Given the description of an element on the screen output the (x, y) to click on. 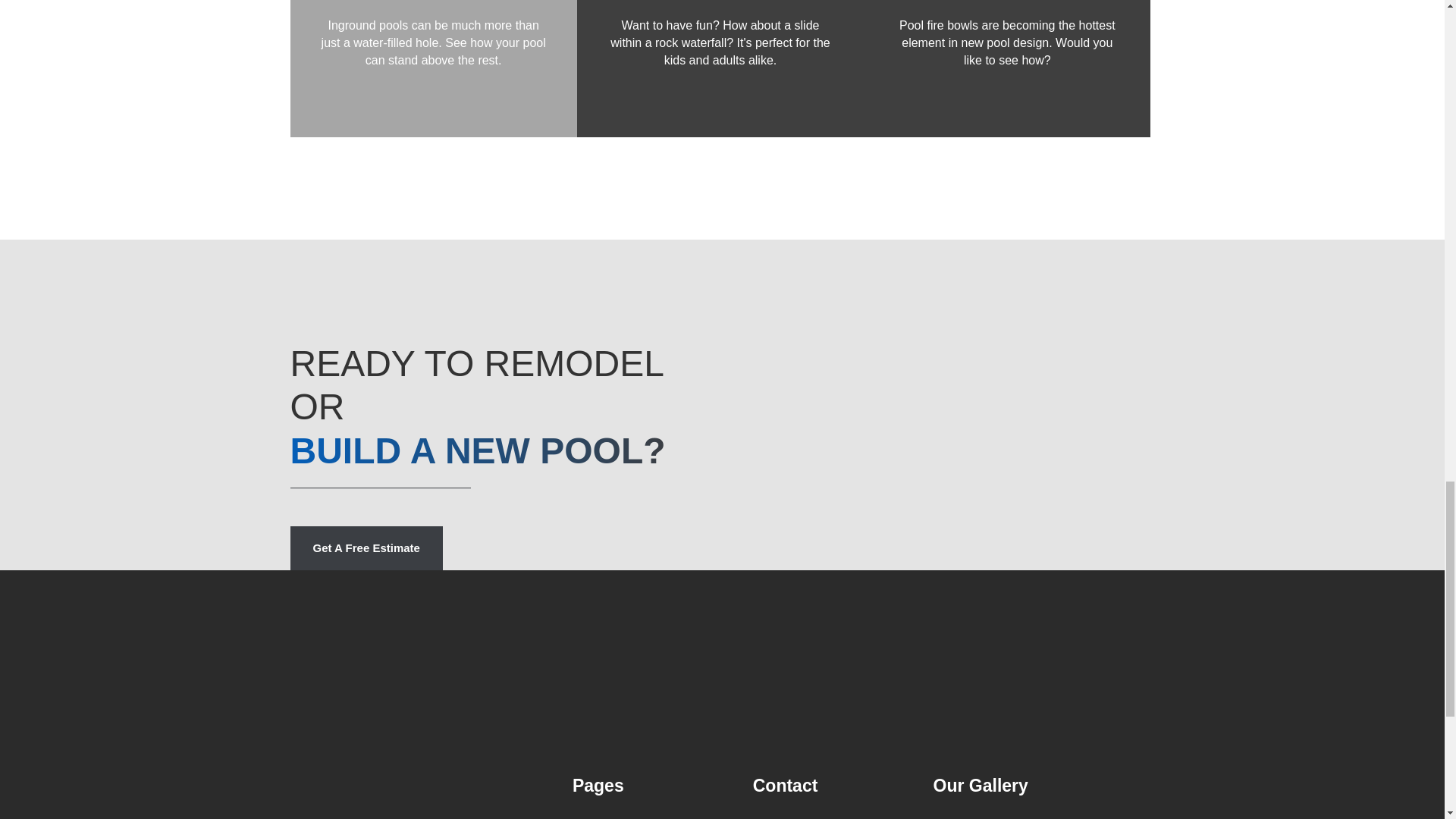
Get A Free Estimate (365, 548)
